Given the description of an element on the screen output the (x, y) to click on. 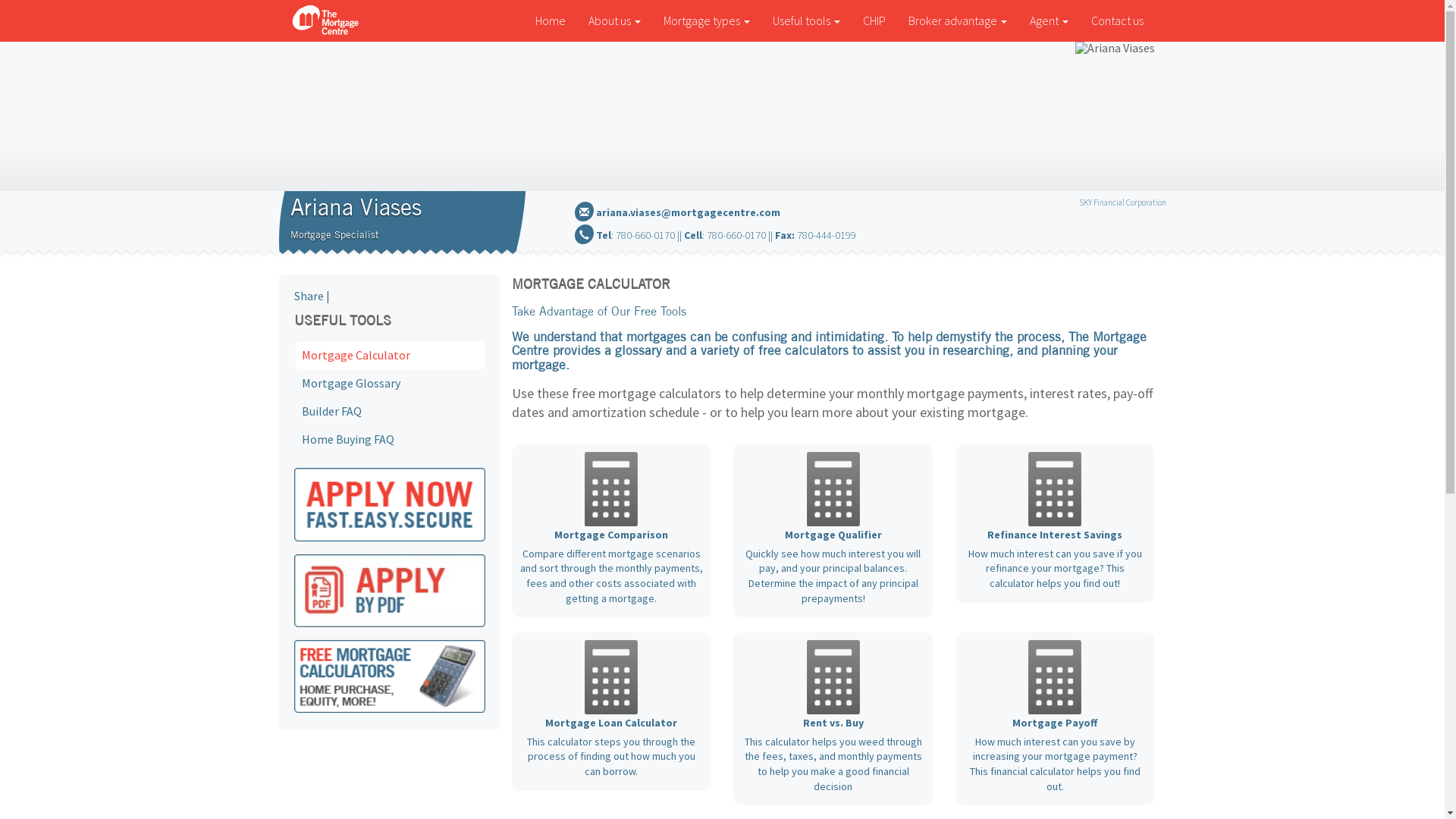
Builder FAQ Element type: text (390, 411)
Mortgage Calculator Element type: text (390, 355)
Useful tools Element type: text (806, 20)
Agent Element type: text (1048, 20)
Mortgage Glossary Element type: text (390, 383)
ariana.viases@mortgagecentre.com Element type: text (688, 212)
Broker advantage Element type: text (956, 20)
Mortgage types Element type: text (706, 20)
Ariana Viases Element type: hover (1114, 47)
About us Element type: text (613, 20)
Contact us Element type: text (1116, 20)
CHIP Element type: text (873, 20)
Home Element type: text (549, 20)
Share Element type: text (308, 295)
Home Buying FAQ Element type: text (390, 439)
